Given the description of an element on the screen output the (x, y) to click on. 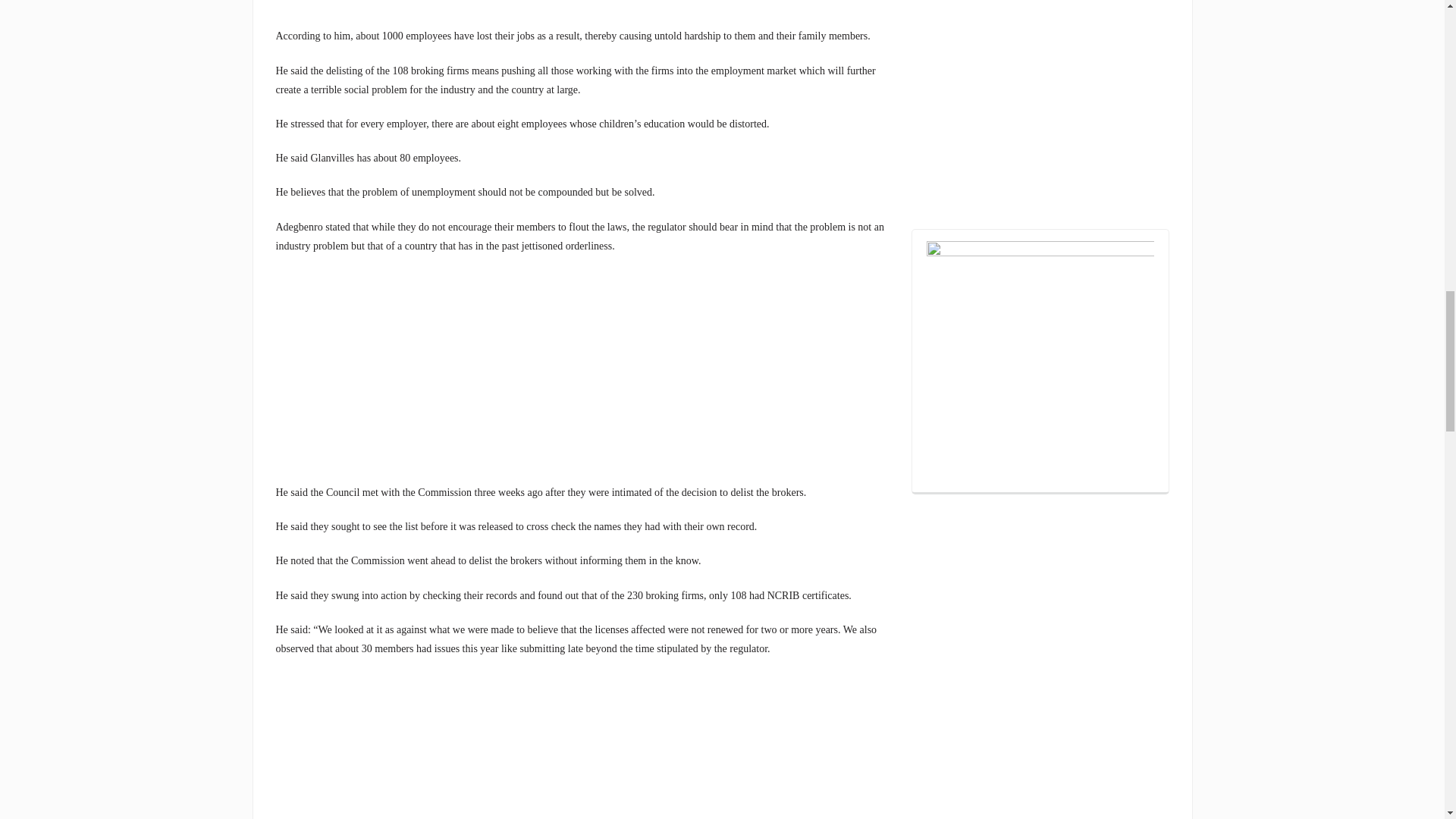
Advertisement (582, 377)
Advertisement (1040, 103)
Advertisement (582, 13)
Advertisement (582, 746)
